Given the description of an element on the screen output the (x, y) to click on. 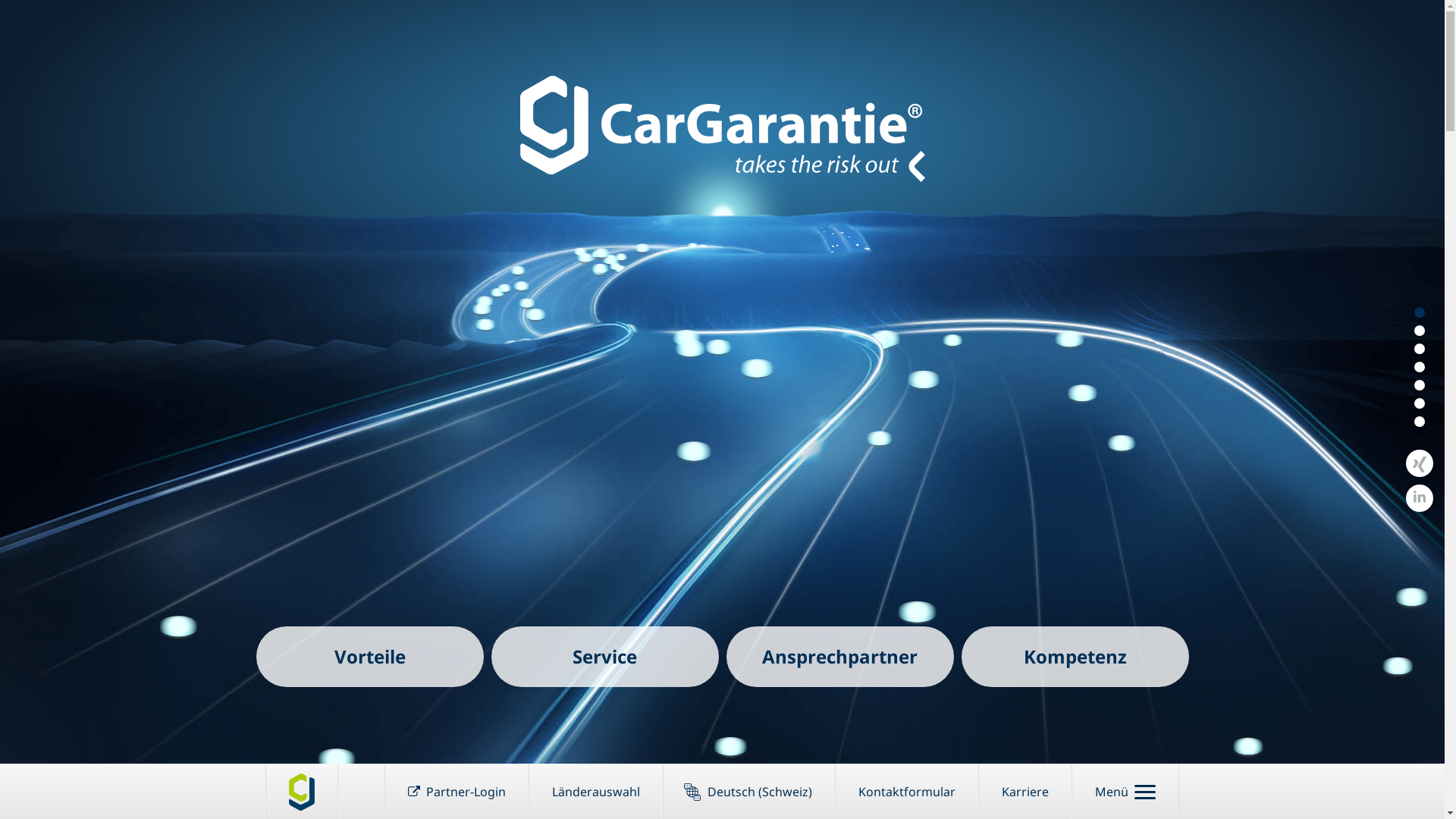
LinkedIn Element type: hover (1419, 497)
Service Element type: text (604, 656)
Xing Element type: hover (1419, 462)
Vorteile Element type: text (369, 656)
Ansprechpartner Element type: text (839, 656)
Skip to content Element type: text (0, 55)
Kompetenz Element type: text (1075, 656)
